Given the description of an element on the screen output the (x, y) to click on. 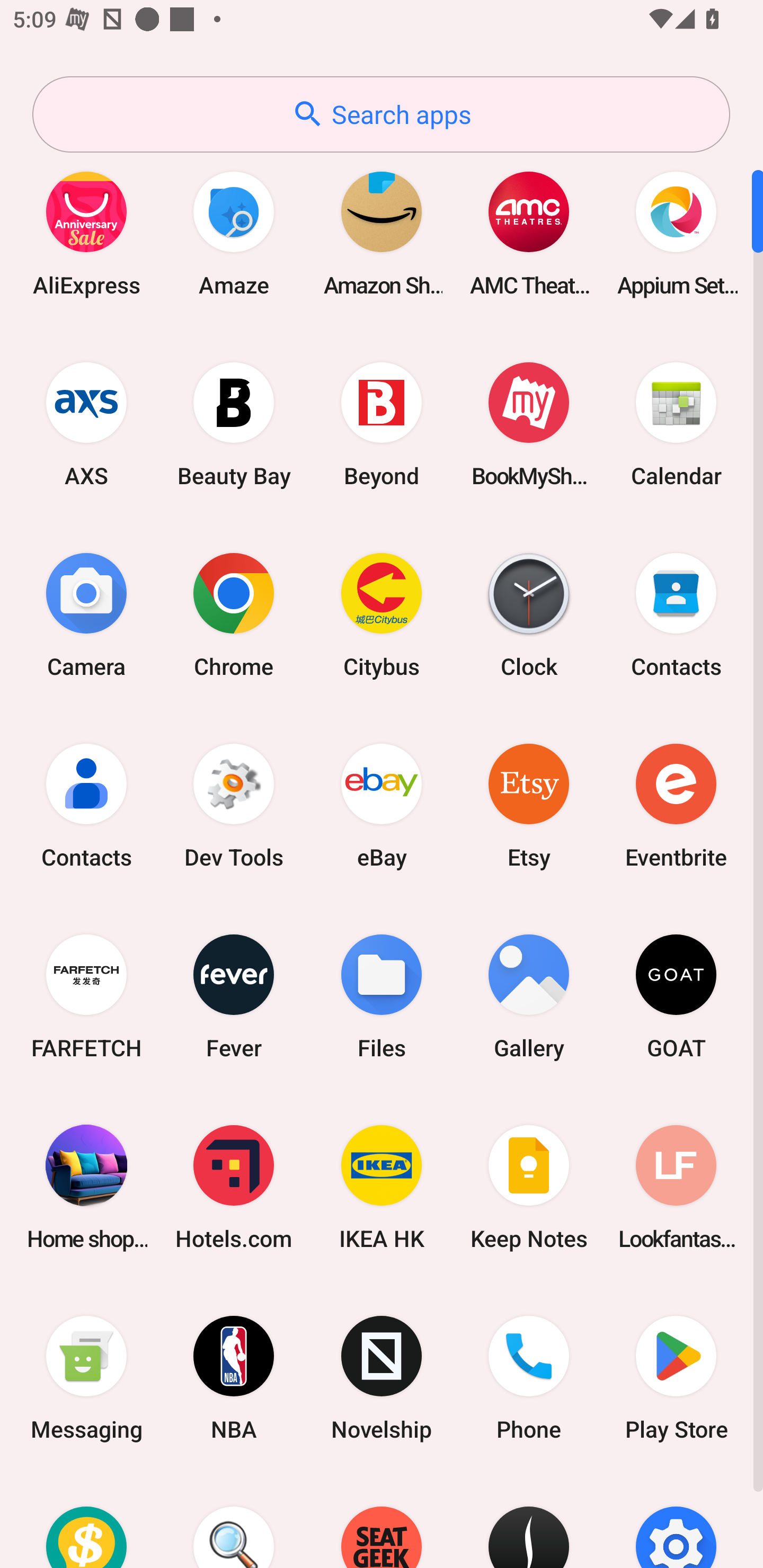
  Search apps (381, 114)
AliExpress (86, 233)
Amaze (233, 233)
Amazon Shopping (381, 233)
AMC Theatres (528, 233)
Appium Settings (676, 233)
AXS (86, 424)
Beauty Bay (233, 424)
Beyond (381, 424)
BookMyShow (528, 424)
Calendar (676, 424)
Camera (86, 614)
Chrome (233, 614)
Citybus (381, 614)
Clock (528, 614)
Contacts (676, 614)
Contacts (86, 805)
Dev Tools (233, 805)
eBay (381, 805)
Etsy (528, 805)
Eventbrite (676, 805)
FARFETCH (86, 996)
Fever (233, 996)
Files (381, 996)
Gallery (528, 996)
GOAT (676, 996)
Home shopping (86, 1186)
Hotels.com (233, 1186)
IKEA HK (381, 1186)
Keep Notes (528, 1186)
Lookfantastic (676, 1186)
Messaging (86, 1377)
NBA (233, 1377)
Novelship (381, 1377)
Phone (528, 1377)
Play Store (676, 1377)
Price (86, 1520)
Search (233, 1520)
SeatGeek (381, 1520)
Sephora (528, 1520)
Settings (676, 1520)
